Given the description of an element on the screen output the (x, y) to click on. 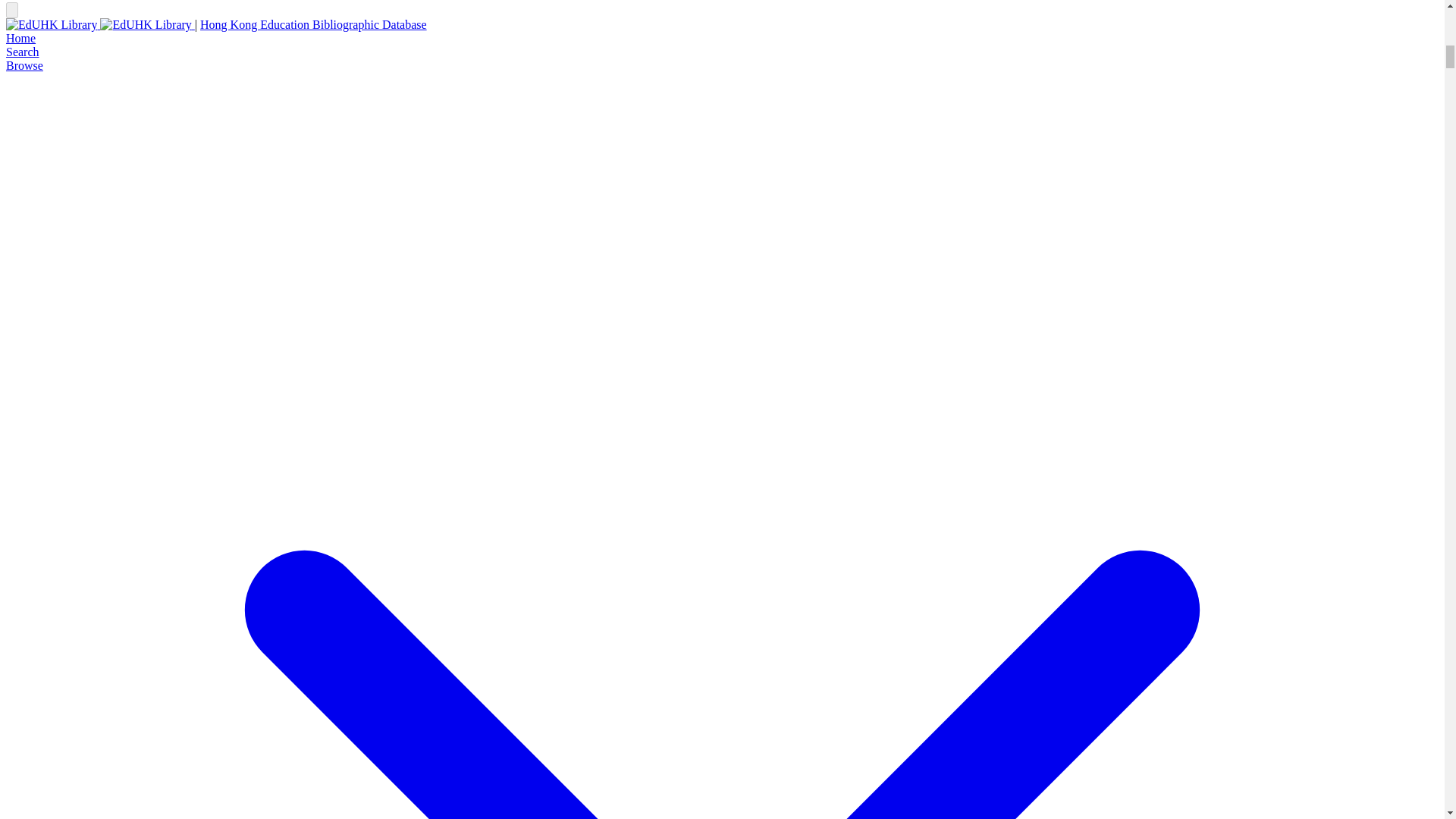
Home (19, 38)
Search (22, 51)
Hong Kong Education Bibliographic Database (313, 24)
